Given the description of an element on the screen output the (x, y) to click on. 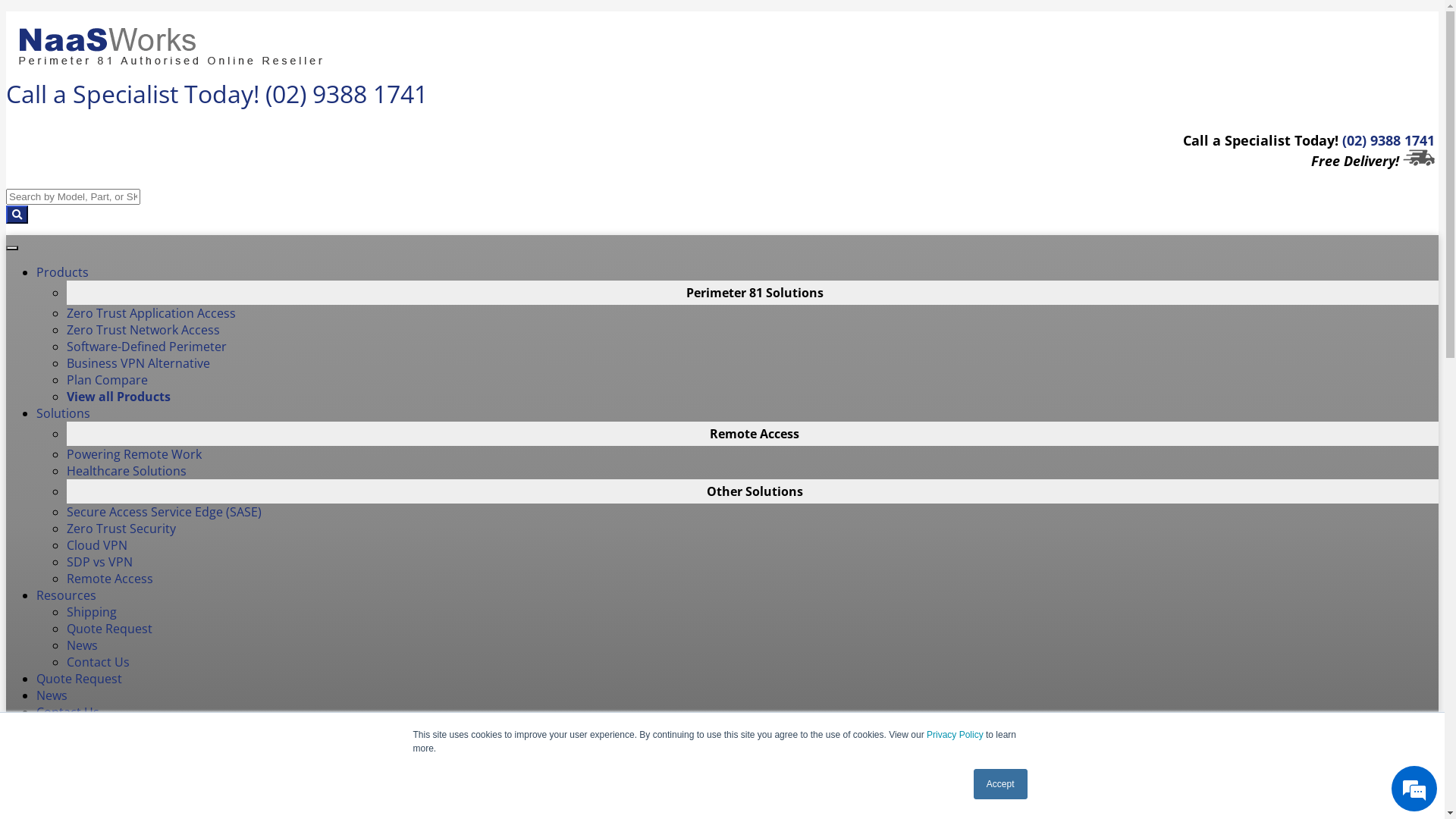
Plan Compare Element type: text (106, 379)
Cloud VPN Element type: text (96, 544)
Remote Access Element type: text (109, 578)
Zero Trust Network Access Element type: text (142, 329)
Secure Access Service Edge (SASE) Element type: text (163, 511)
Software-Defined Perimeter Element type: text (146, 346)
Healthcare Solutions Element type: text (126, 470)
SDP vs VPN Element type: text (99, 561)
Business VPN Alternative Element type: text (138, 362)
Solutions Element type: text (63, 412)
Resources Element type: text (66, 594)
Powering Remote Work Element type: text (133, 453)
View all Products Element type: text (118, 396)
Shipping Element type: text (91, 611)
(02) 9388 1741 Element type: text (346, 93)
Quote Request Element type: text (79, 678)
Privacy Policy Element type: text (954, 734)
Contact Us Element type: text (97, 661)
Quote Request Element type: text (109, 628)
Contact Us Element type: text (67, 711)
Accept Element type: text (1000, 783)
News Element type: text (51, 695)
News Element type: text (81, 645)
(02) 9388 1741 Element type: text (1388, 140)
Zero Trust Security Element type: text (120, 528)
Zero Trust Application Access Element type: text (150, 312)
Products Element type: text (62, 271)
